Given the description of an element on the screen output the (x, y) to click on. 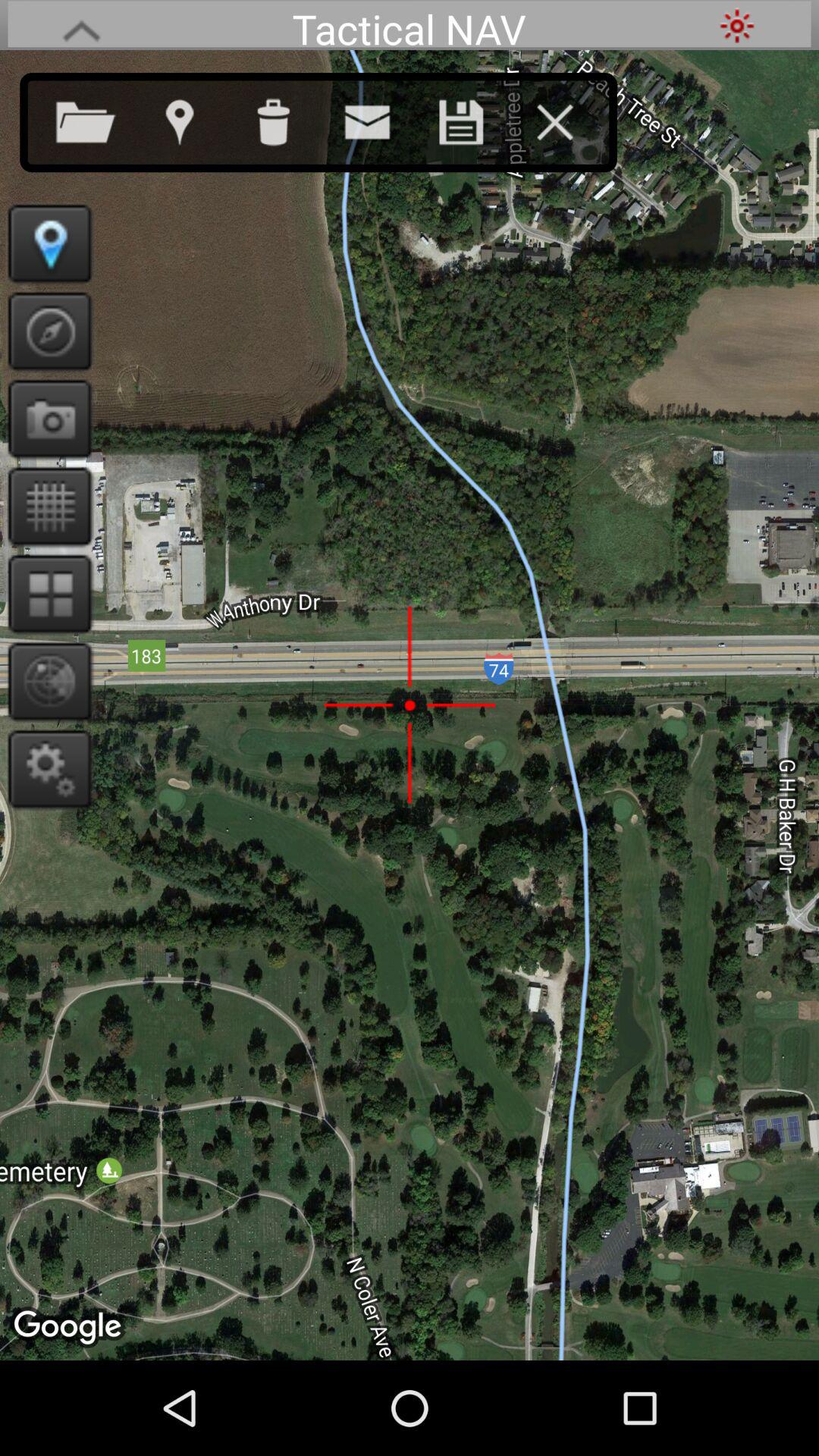
send location via email (382, 119)
